Given the description of an element on the screen output the (x, y) to click on. 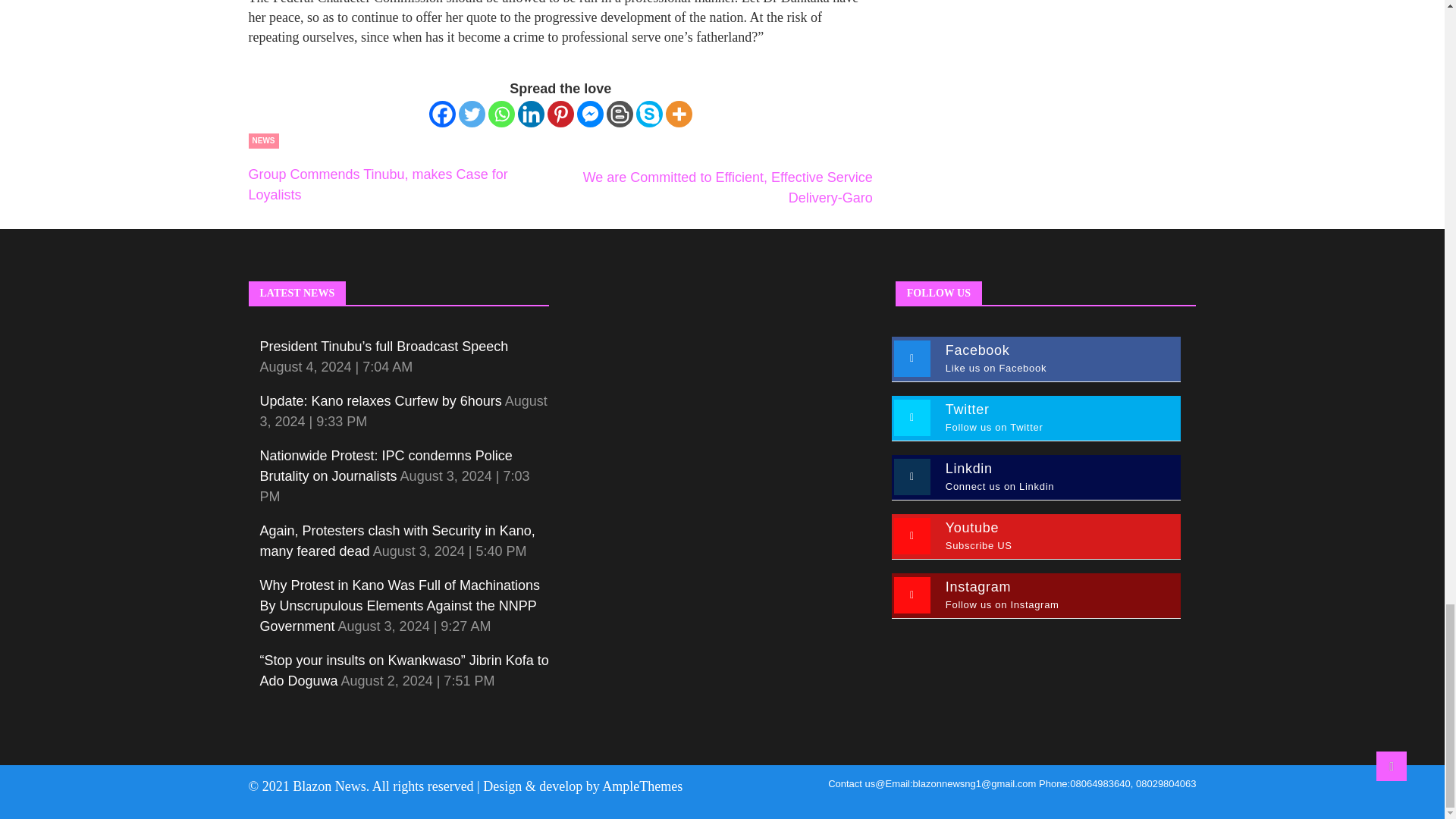
Twitter (471, 113)
Linkedin (531, 113)
Whatsapp (501, 113)
Facebook (442, 113)
